Given the description of an element on the screen output the (x, y) to click on. 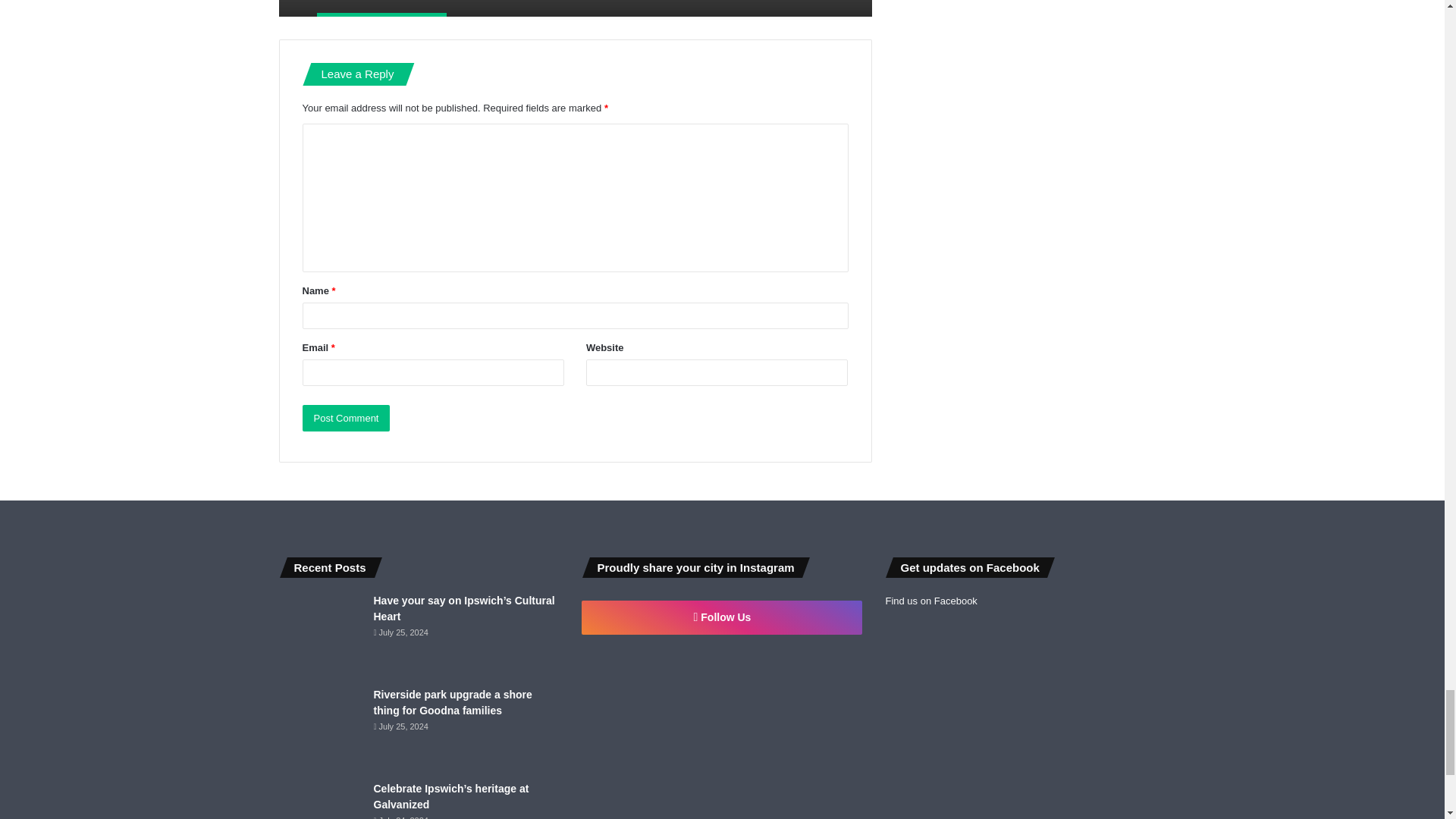
Post Comment (345, 417)
